Given the description of an element on the screen output the (x, y) to click on. 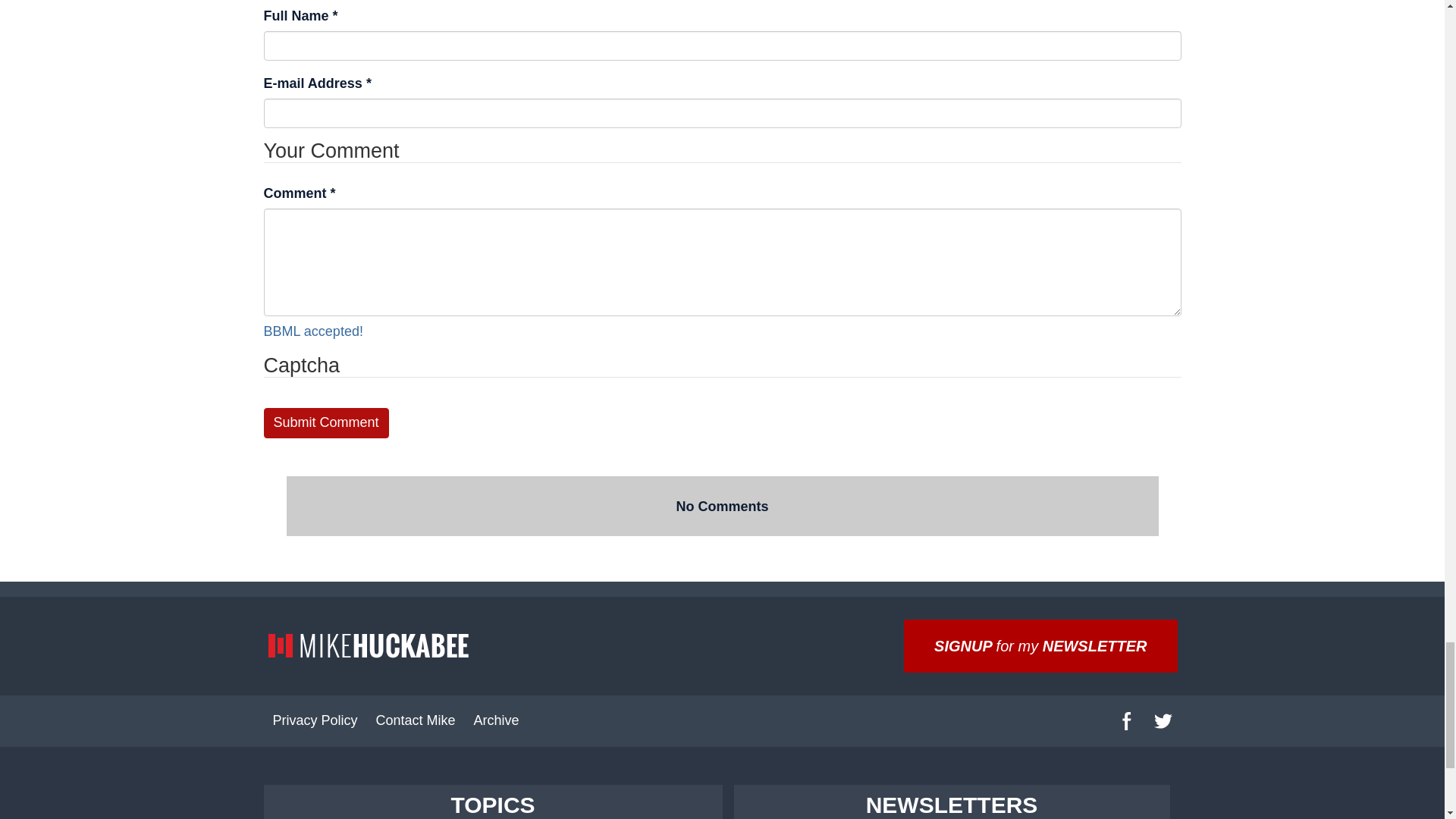
Facebook Icon (1126, 720)
SIGNUP for my NEWSLETTER (1040, 645)
Twitter Icon (1163, 720)
Submit Comment (325, 422)
Facebook (1126, 720)
Submit Comment (325, 422)
Twitter (1162, 720)
